Given the description of an element on the screen output the (x, y) to click on. 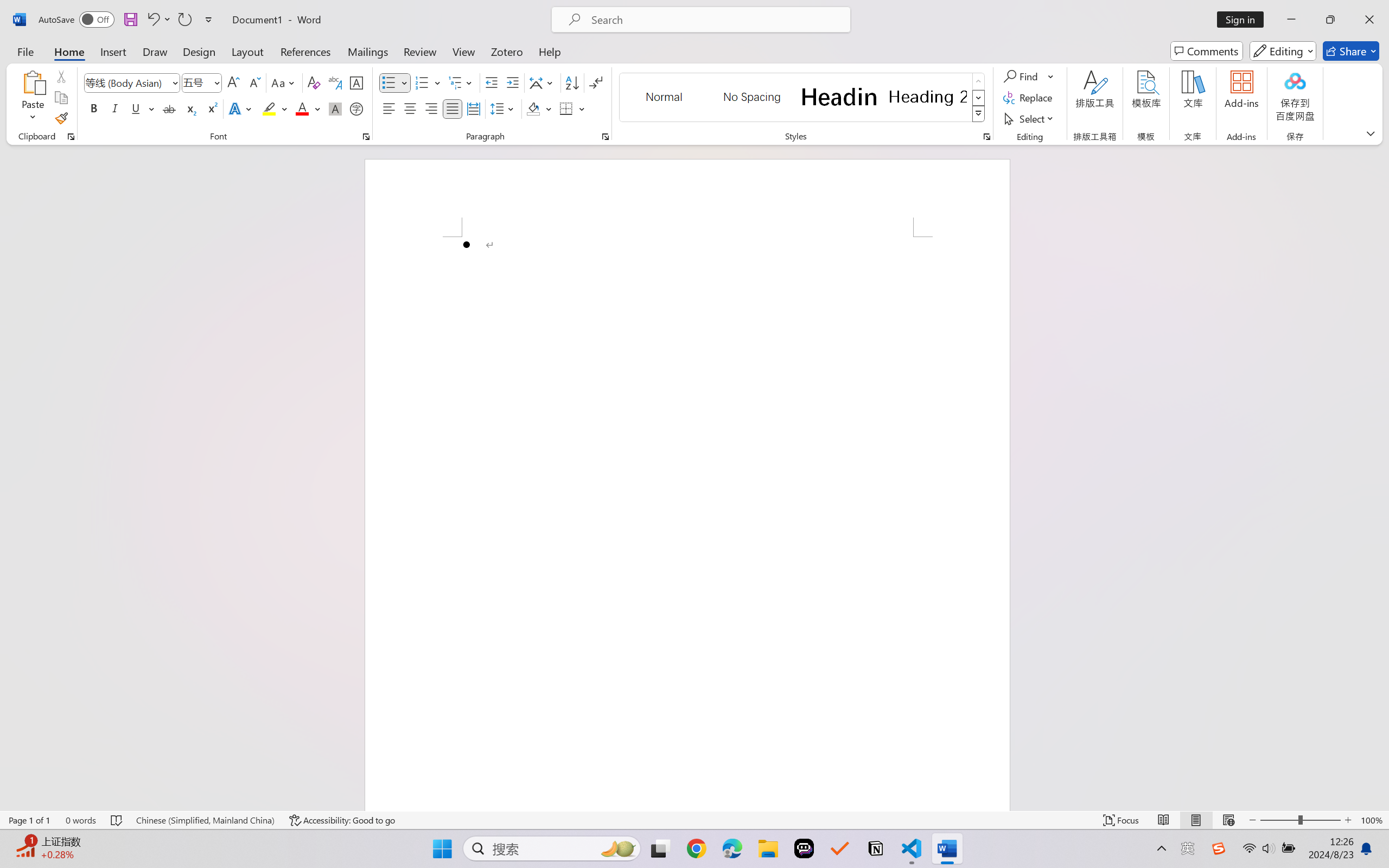
Sign in (1244, 19)
